Given the description of an element on the screen output the (x, y) to click on. 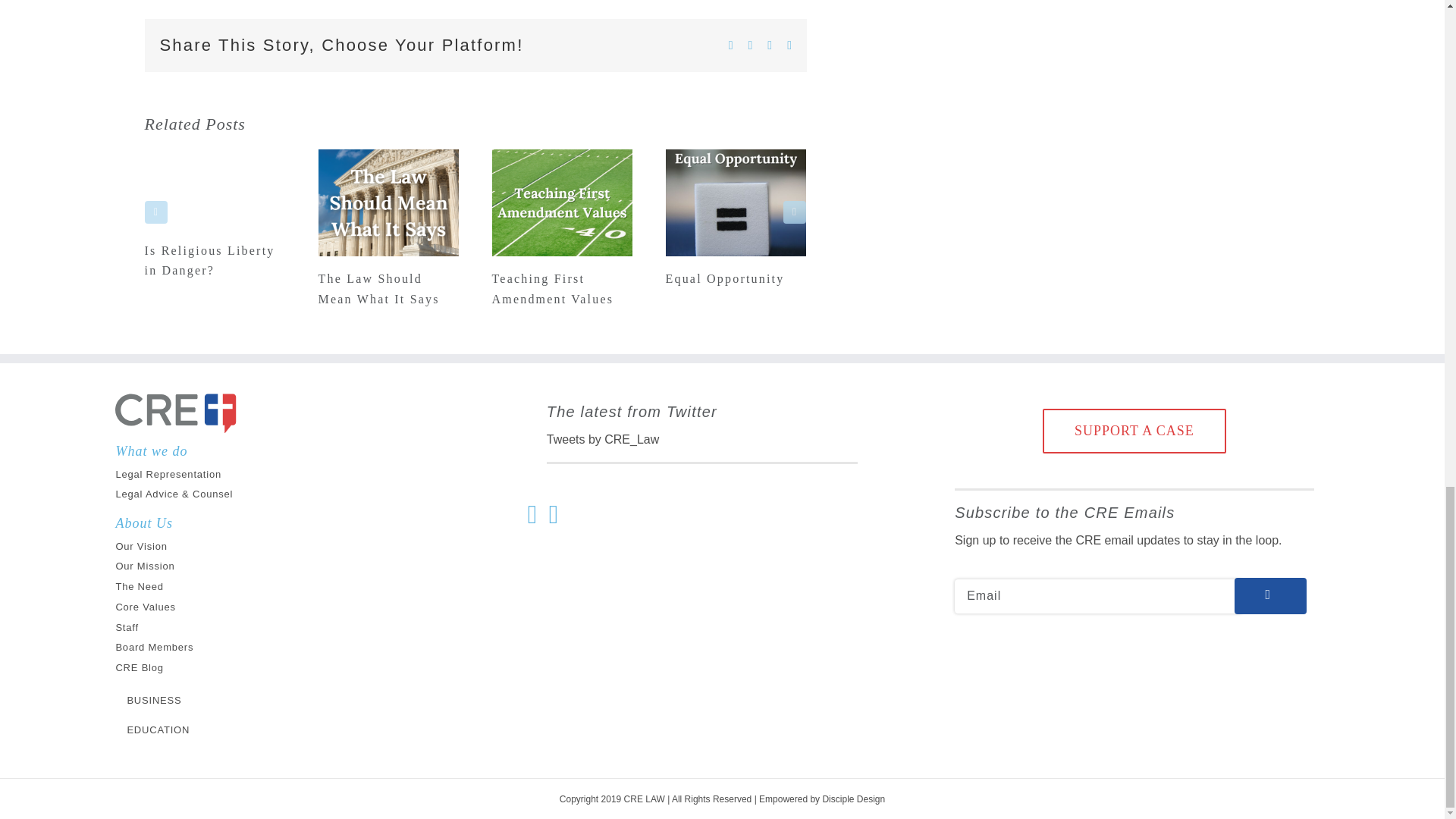
Is Religious Liberty in Danger? (209, 260)
Equal Opportunity (724, 278)
The Law Should Mean What It Says (378, 287)
Teaching First Amendment Values (552, 287)
